Given the description of an element on the screen output the (x, y) to click on. 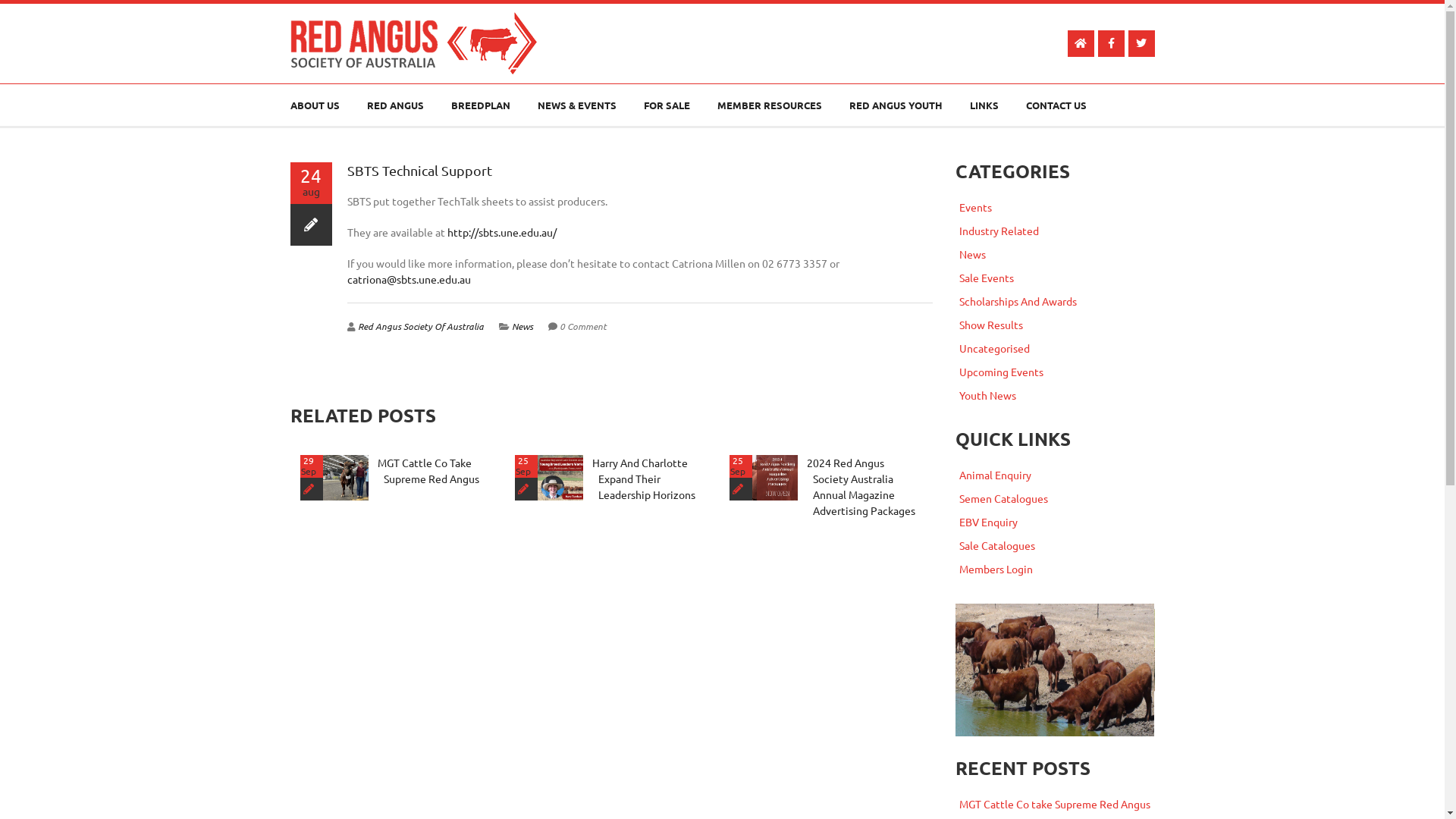
Semen Catalogues Element type: text (1003, 498)
Red Angus Society Of Australia Element type: text (420, 326)
EBV Enquiry Element type: text (988, 521)
LINKS Element type: text (983, 106)
ABOUT US Element type: text (313, 106)
CONTACT US Element type: text (1055, 106)
catriona@sbts.une.edu.au Element type: text (408, 278)
MGT Cattle Co take Supreme Red Angus Element type: text (1054, 803)
Events Element type: text (975, 206)
News Element type: text (972, 253)
NEWS & EVENTS Element type: text (575, 106)
Animal Enquiry Element type: text (995, 474)
Show Results Element type: text (990, 324)
http://sbts.une.edu.au/ Element type: text (501, 231)
BREEDPLAN Element type: text (479, 106)
Uncategorised Element type: text (994, 347)
Members Login Element type: text (995, 568)
Scholarships And Awards Element type: text (1017, 300)
MEMBER RESOURCES Element type: text (769, 106)
Upcoming Events Element type: text (1001, 371)
News Element type: text (521, 326)
FOR SALE Element type: text (666, 106)
RED ANGUS YOUTH Element type: text (895, 106)
Youth News Element type: text (987, 394)
MGT Cattle Co Take Supreme Red Angus Element type: text (428, 470)
RED ANGUS Element type: text (395, 106)
Harry And Charlotte Expand Their Leadership Horizons Element type: text (642, 478)
Sale Catalogues Element type: text (997, 545)
News Element type: text (1003, 41)
Home Element type: text (948, 41)
Sale Events Element type: text (986, 277)
Industry Related Element type: text (998, 230)
